Given the description of an element on the screen output the (x, y) to click on. 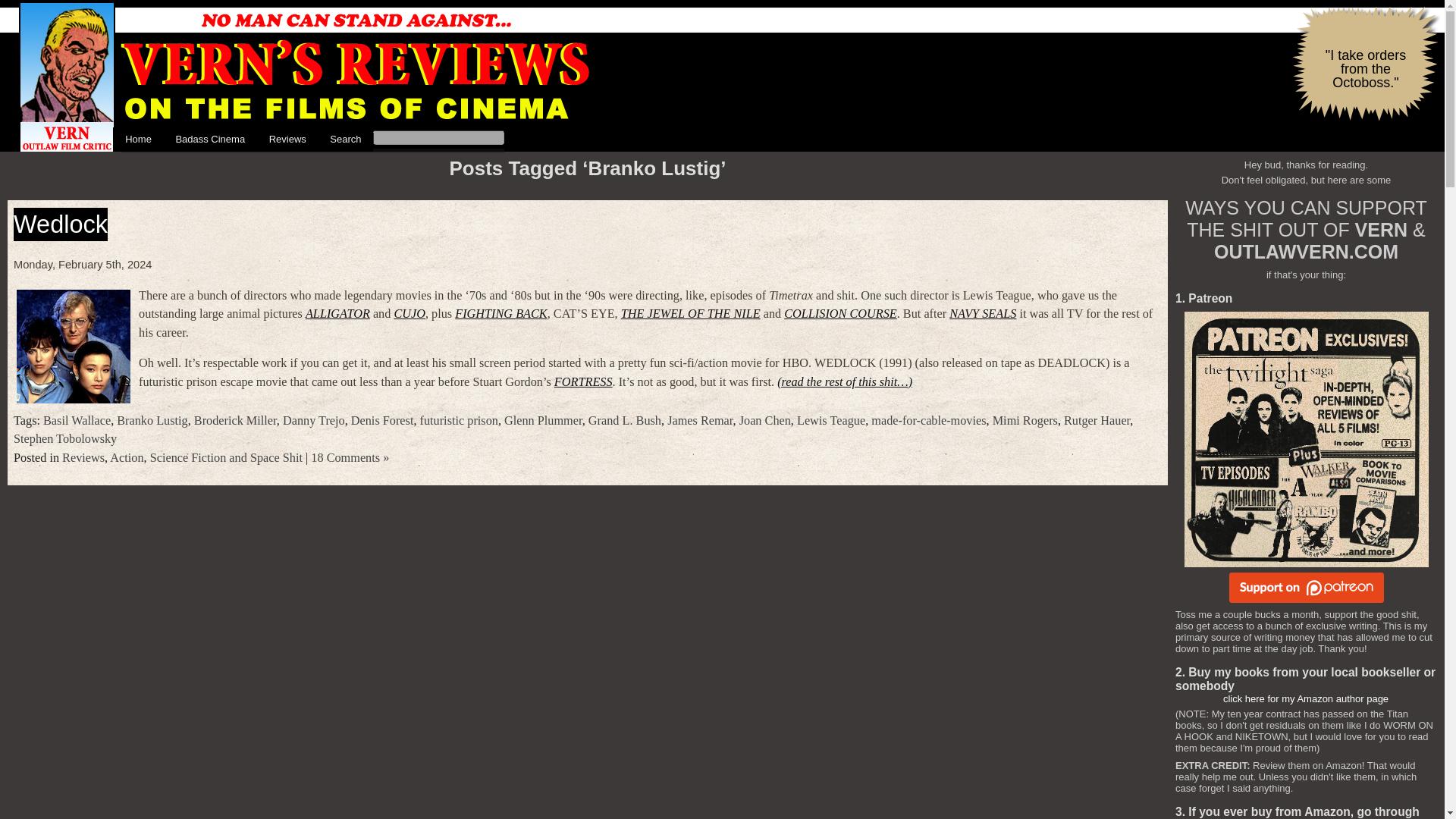
Home (138, 139)
Permanent Link to Wedlock (60, 224)
